Given the description of an element on the screen output the (x, y) to click on. 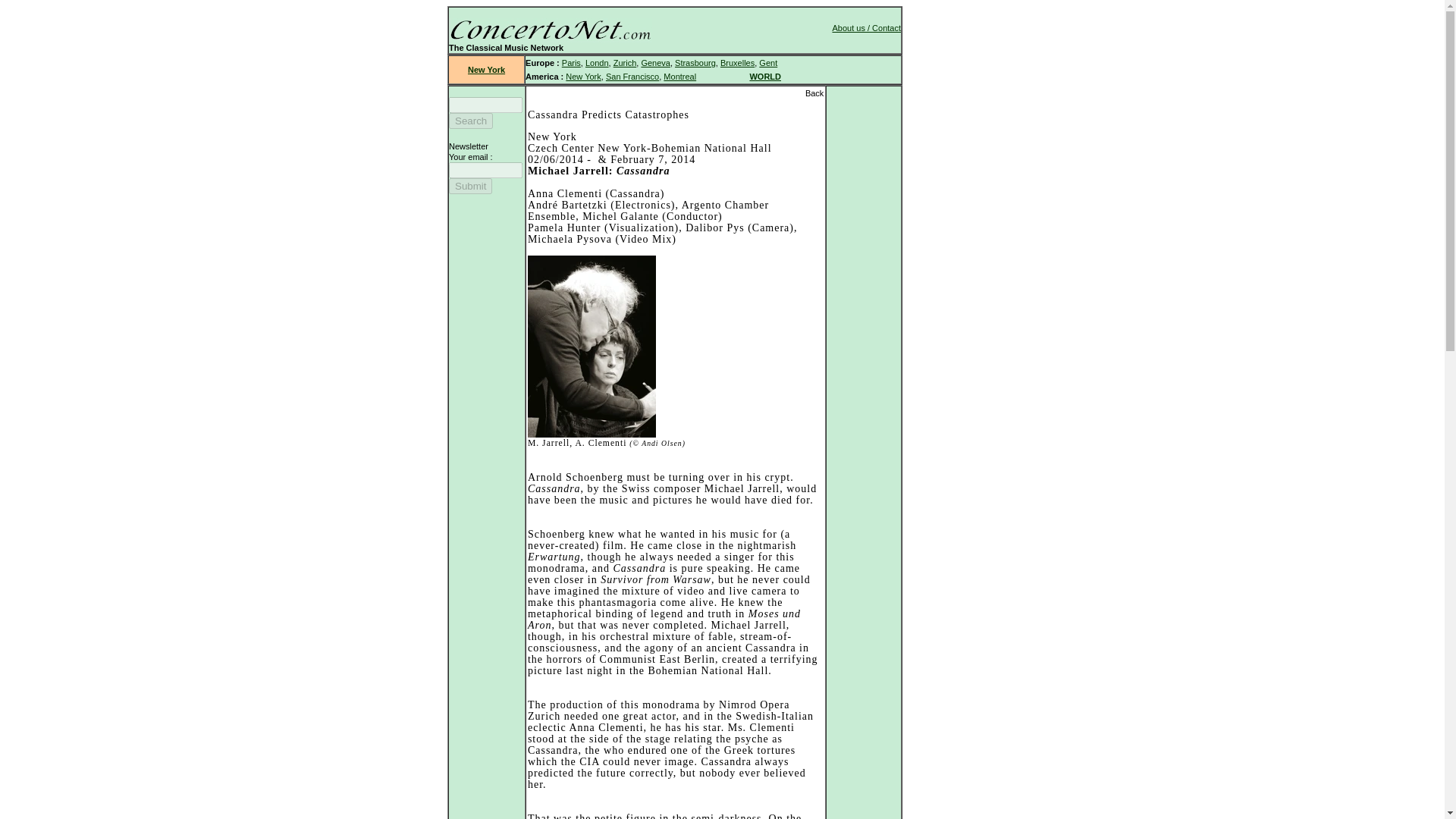
Search (470, 120)
Zurich (624, 62)
Londn (596, 62)
Submit (470, 186)
Strasbourg (695, 62)
Search (470, 120)
New York (582, 76)
Montreal (679, 76)
Gent (767, 62)
WORLD (764, 76)
